Given the description of an element on the screen output the (x, y) to click on. 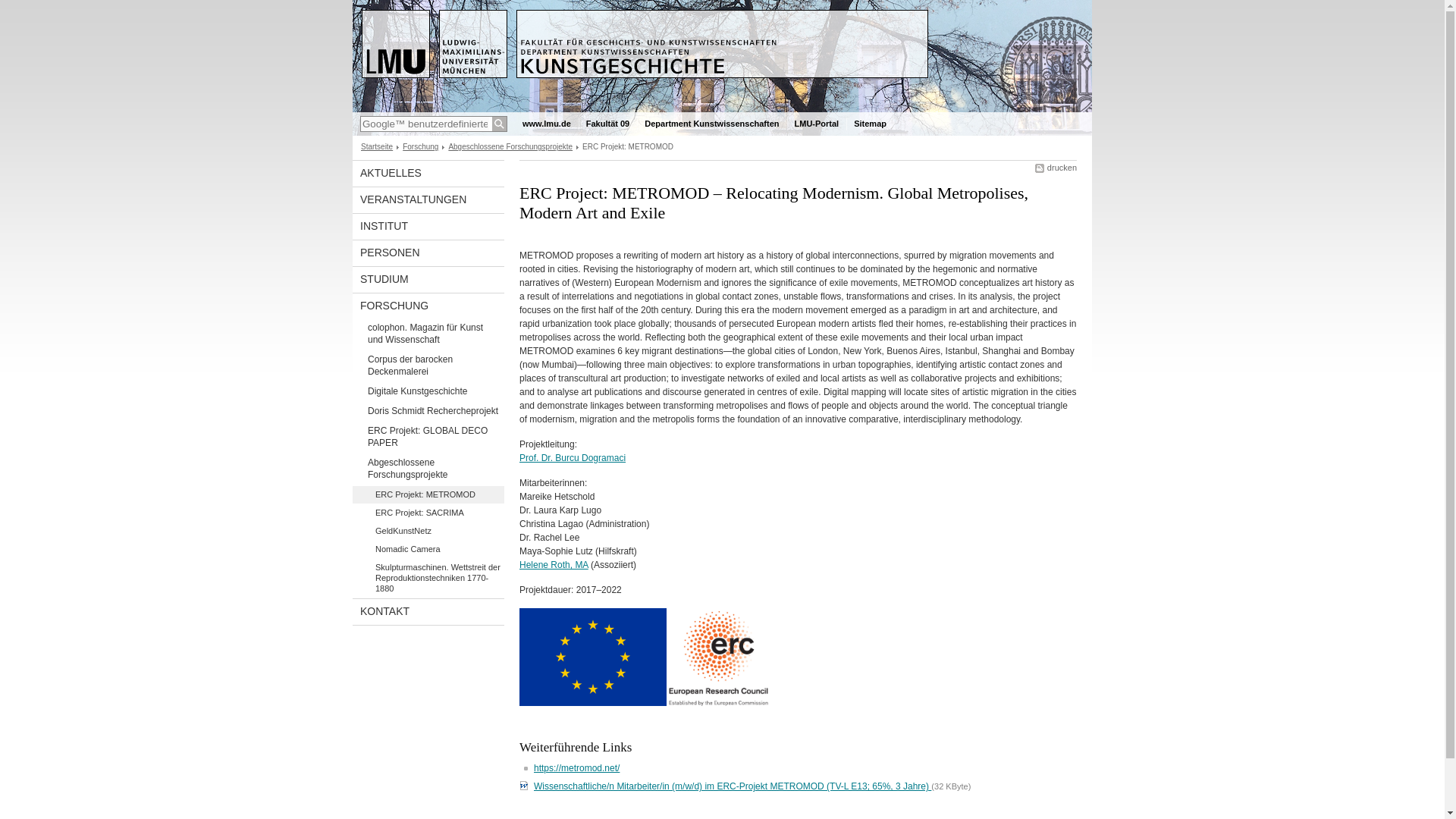
Suchen (499, 124)
LMU-Portal (817, 123)
ERC Projekt: SACRIMA (427, 512)
GeldKunstNetz (427, 530)
ERC Projekt: METROMOD (427, 494)
Dr. Rachel Lee (549, 537)
Suchen (499, 124)
drucken (1056, 167)
ERC Projekt: GLOBAL DECO PAPER (427, 437)
